Given the description of an element on the screen output the (x, y) to click on. 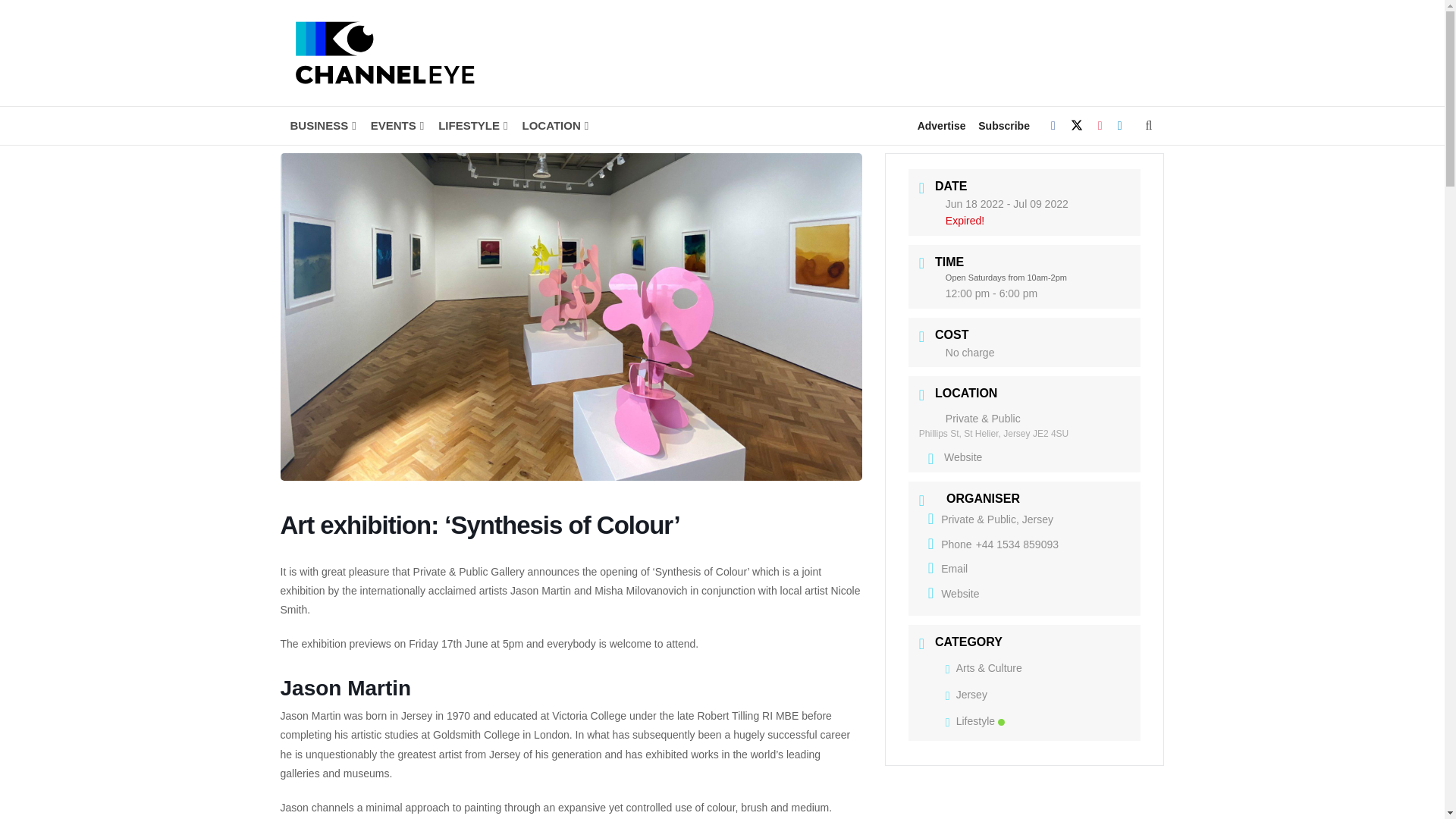
LOCATION (553, 125)
Subscribe (1003, 125)
BUSINESS (321, 125)
LIFESTYLE (471, 125)
EVENTS (396, 125)
Advertise (941, 125)
